Given the description of an element on the screen output the (x, y) to click on. 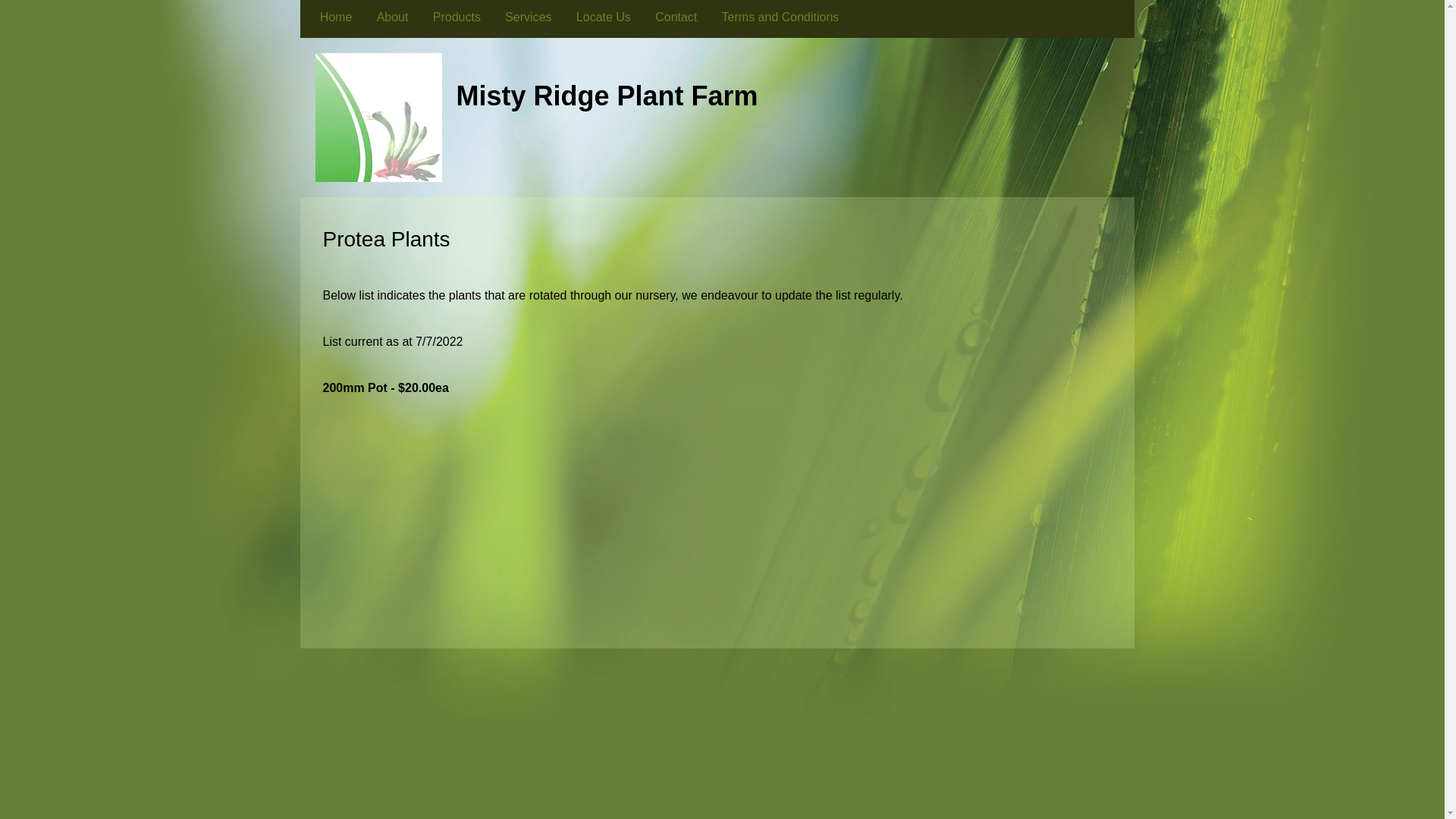
Products Element type: text (456, 17)
Services Element type: text (528, 17)
Terms and Conditions Element type: text (779, 17)
Home Element type: text (335, 17)
Locate Us Element type: text (603, 17)
Contact Element type: text (676, 17)
Embedded Content Element type: hover (723, 534)
About Element type: text (392, 17)
